Given the description of an element on the screen output the (x, y) to click on. 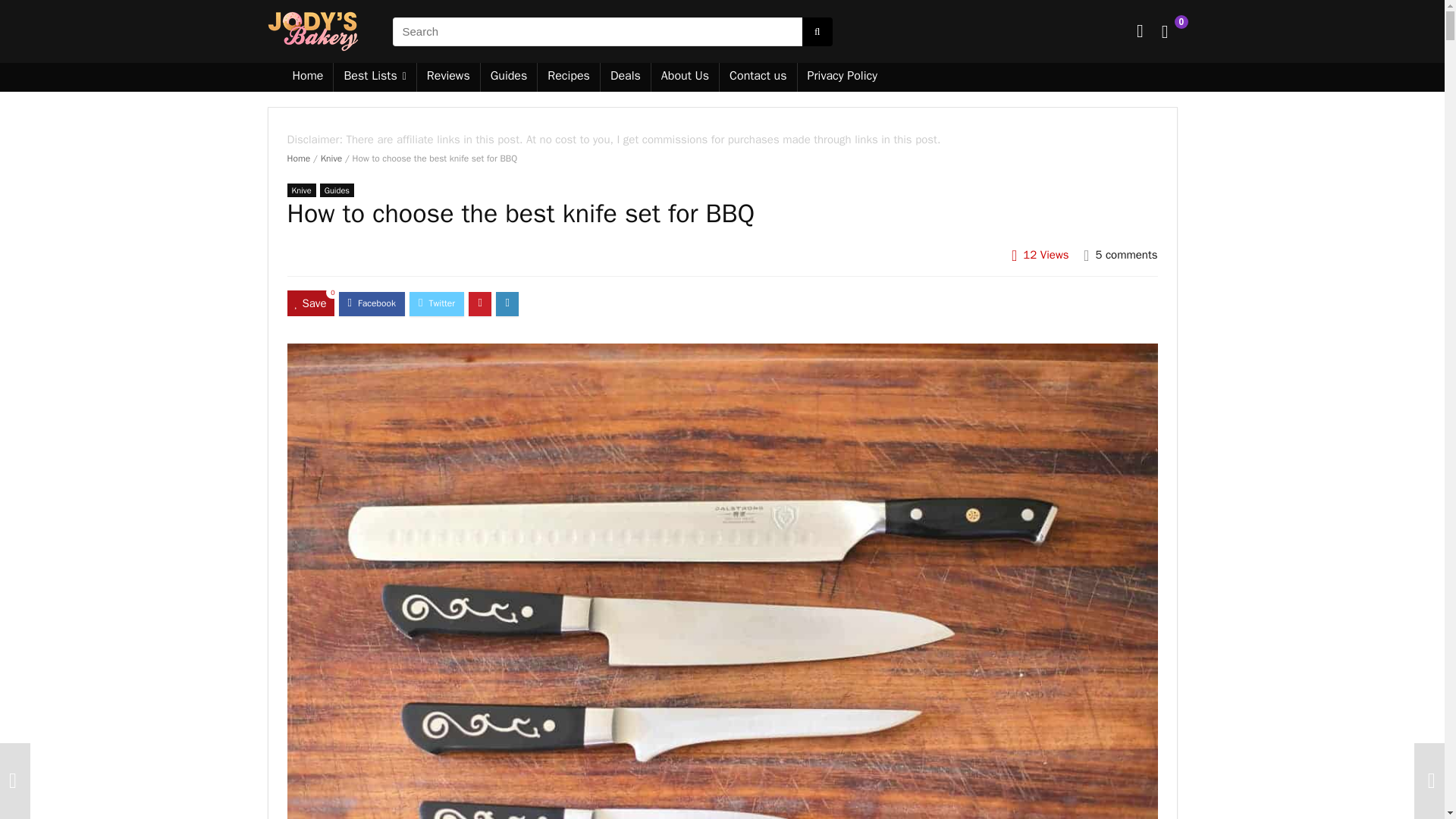
Guides (336, 190)
Deals (624, 77)
Home (307, 77)
About Us (684, 77)
Contact us (757, 77)
Privacy Policy (841, 77)
Home (298, 158)
Reviews (448, 77)
Recipes (568, 77)
Best Lists (373, 77)
